Given the description of an element on the screen output the (x, y) to click on. 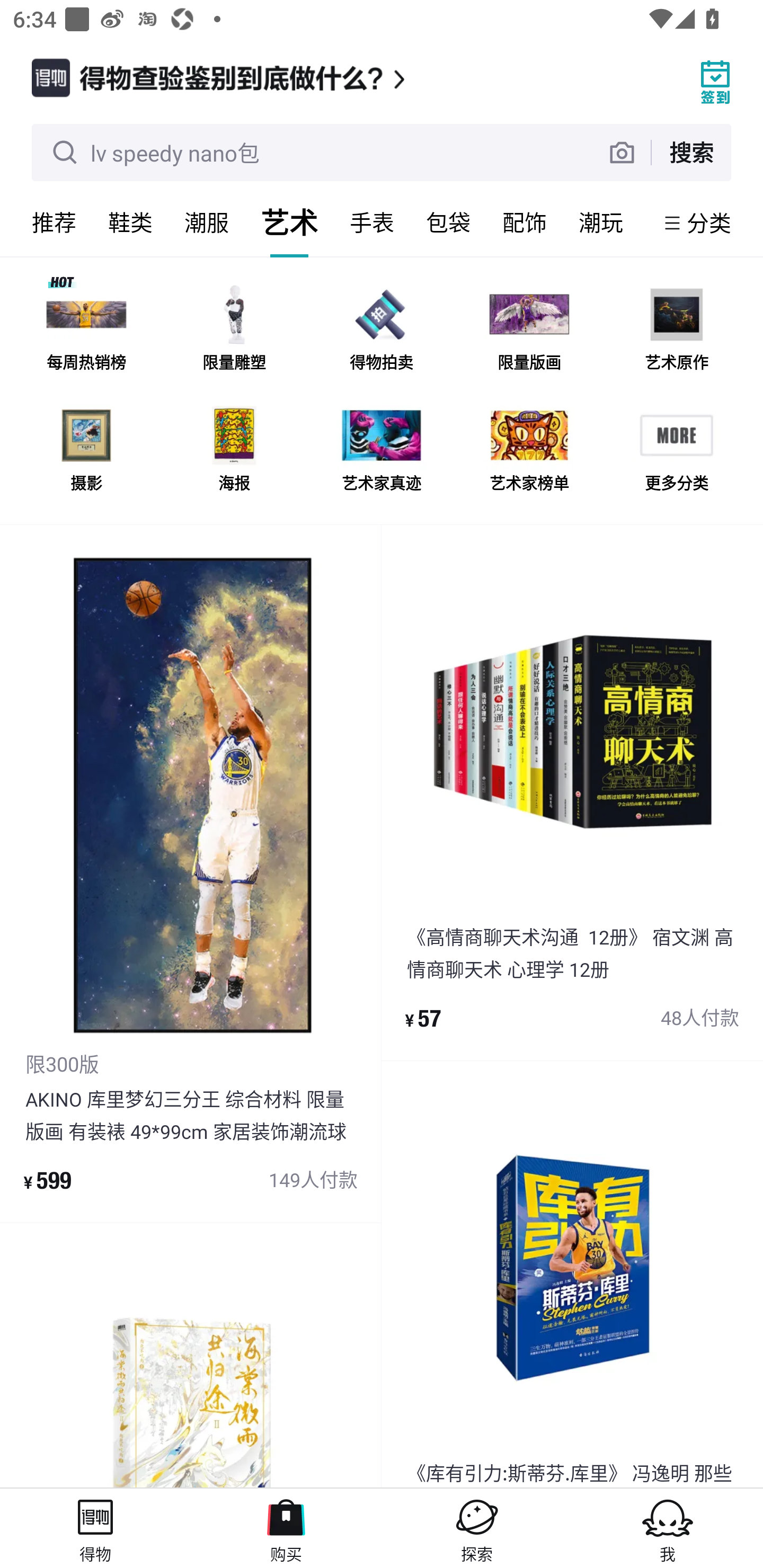
搜索 (690, 152)
推荐 (54, 222)
鞋类 (130, 222)
潮服 (206, 222)
艺术 (289, 222)
手表 (372, 222)
包袋 (448, 222)
配饰 (524, 222)
潮玩 (601, 222)
分类 (708, 222)
每周热销榜 (86, 329)
限量雕塑 (233, 329)
得物拍卖 (381, 329)
限量版画 (528, 329)
艺术原作 (676, 329)
摄影 (86, 450)
海报 (233, 450)
艺术家真迹 (381, 450)
艺术家榜单 (528, 450)
更多分类 (676, 450)
《高情商聊天术沟通  12册》 宿文渊 高
情商聊天术 心理学 12册 ¥ 57 48人付款 (572, 792)
《库有引力:斯蒂芬.库里》 冯逸明 那些
年我们一起追的球星名人传记 传记 正
版 (572, 1274)
得物 (95, 1528)
购买 (285, 1528)
探索 (476, 1528)
我 (667, 1528)
